Given the description of an element on the screen output the (x, y) to click on. 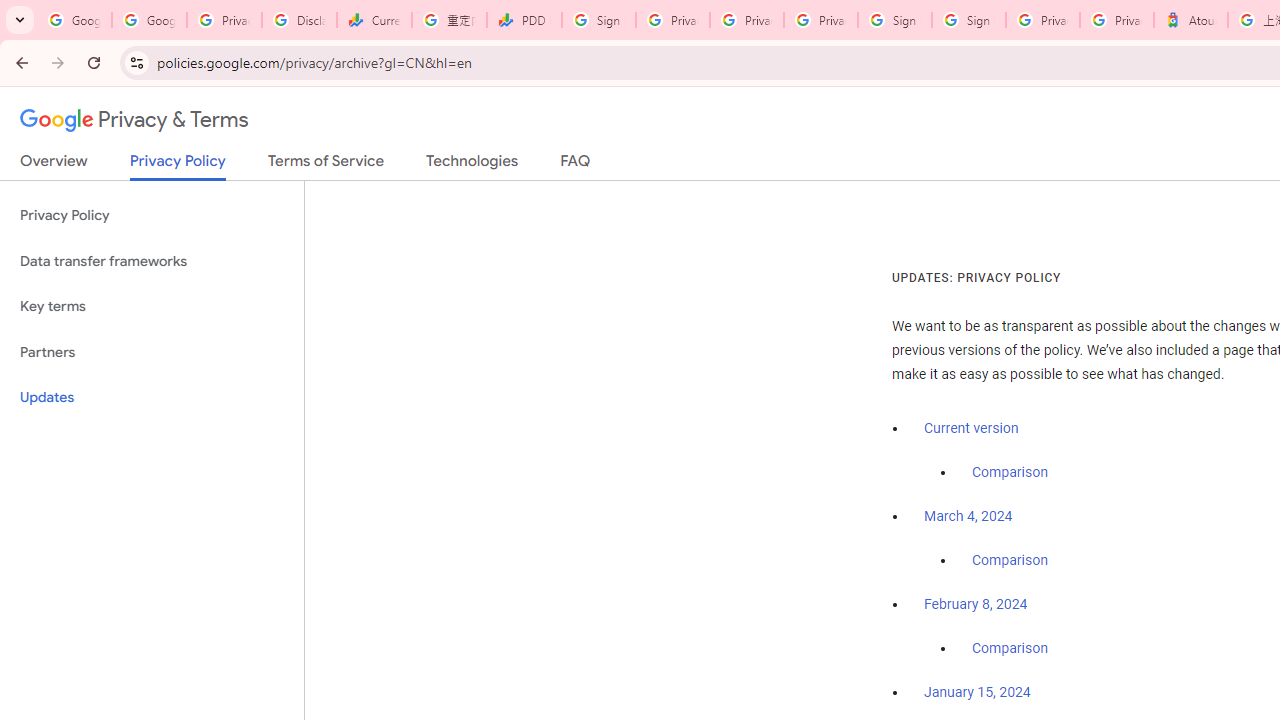
March 4, 2024 (968, 517)
Privacy Checkup (747, 20)
Sign in - Google Accounts (598, 20)
Current version (971, 428)
